Given the description of an element on the screen output the (x, y) to click on. 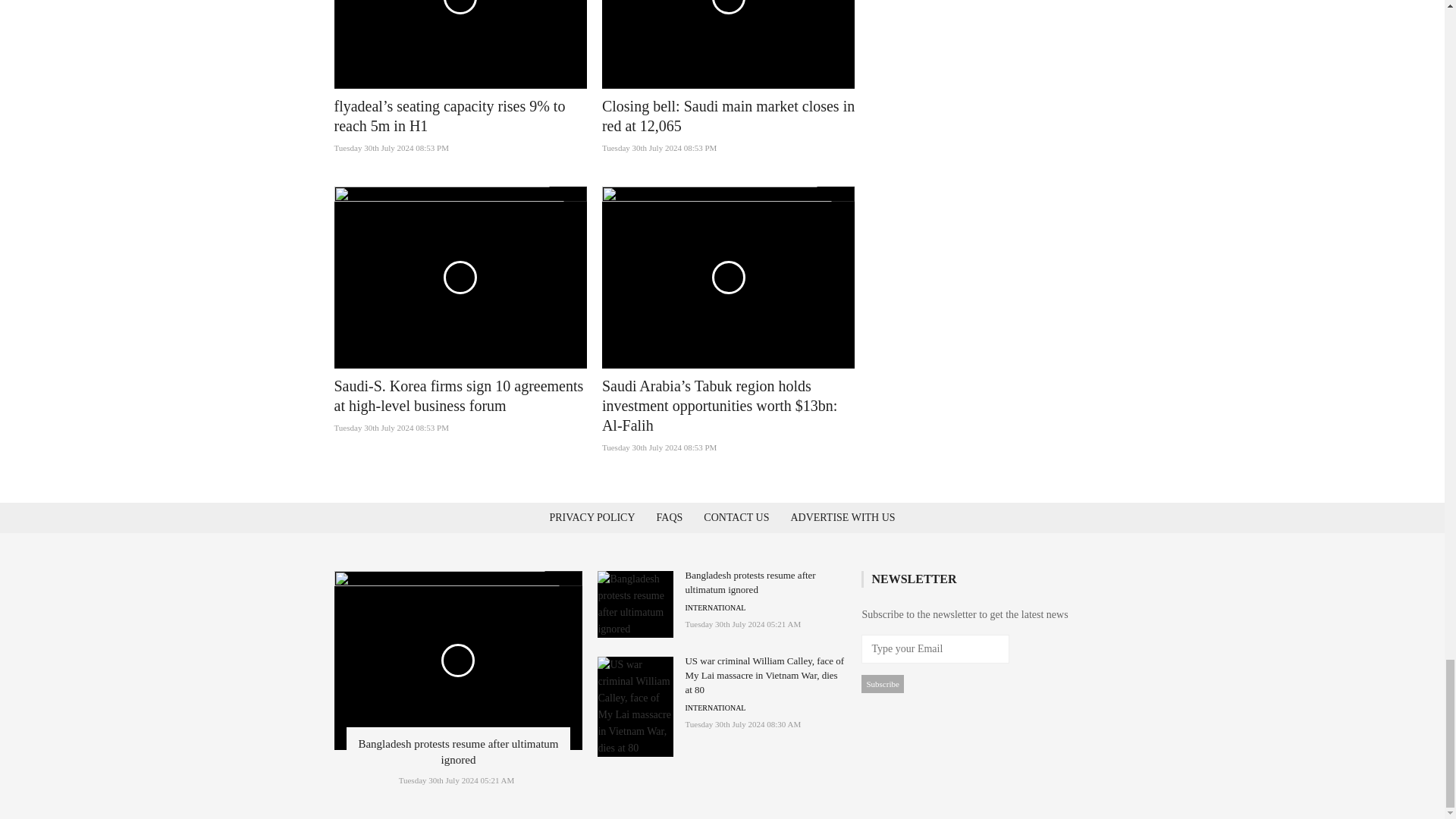
Subscribe (881, 683)
Closing bell: Saudi main market closes in red at 12,065 (728, 115)
